Given the description of an element on the screen output the (x, y) to click on. 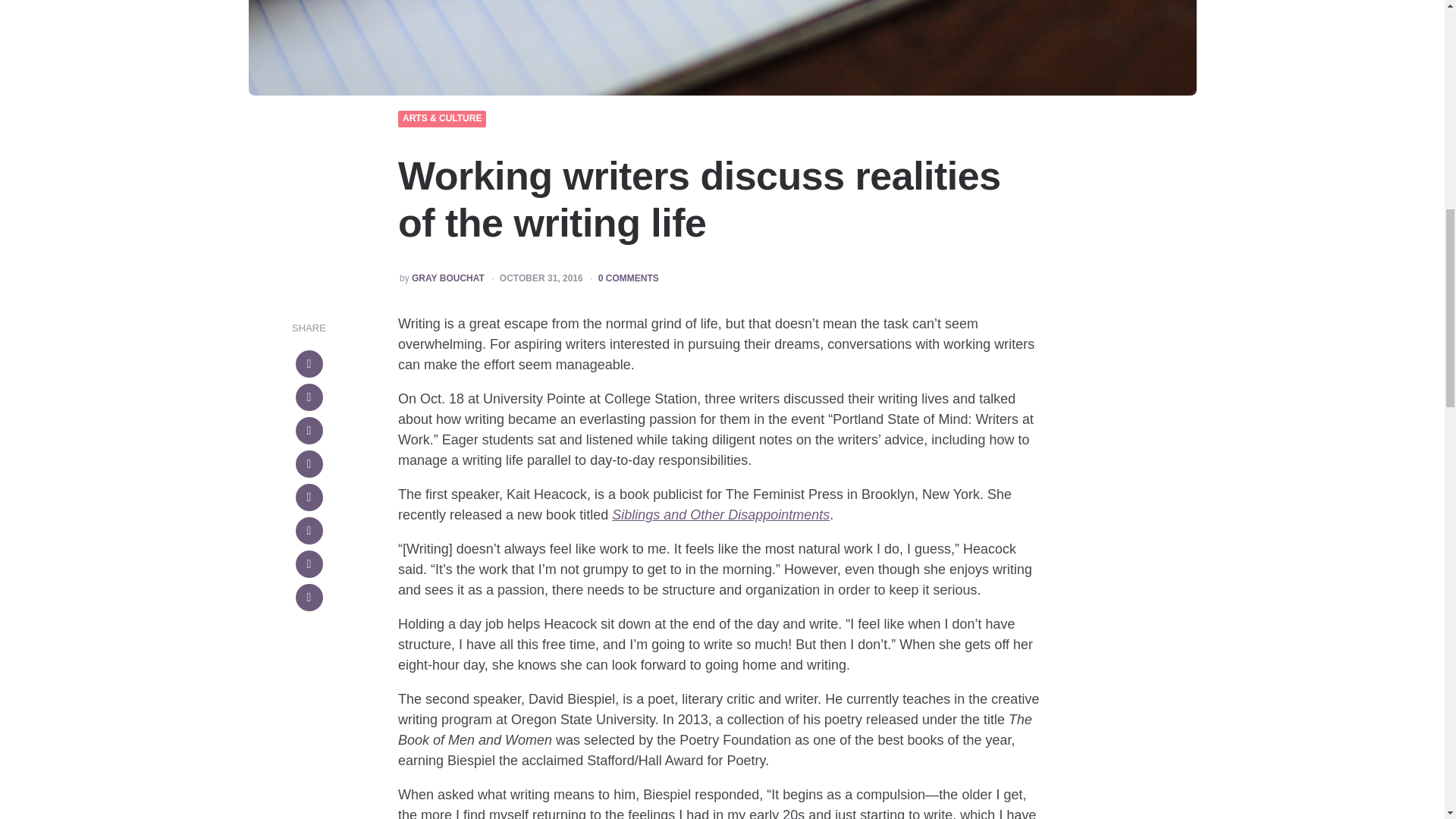
Siblings and Other Disappointments (720, 514)
GRAY BOUCHAT (448, 278)
0 COMMENTS (628, 278)
